Given the description of an element on the screen output the (x, y) to click on. 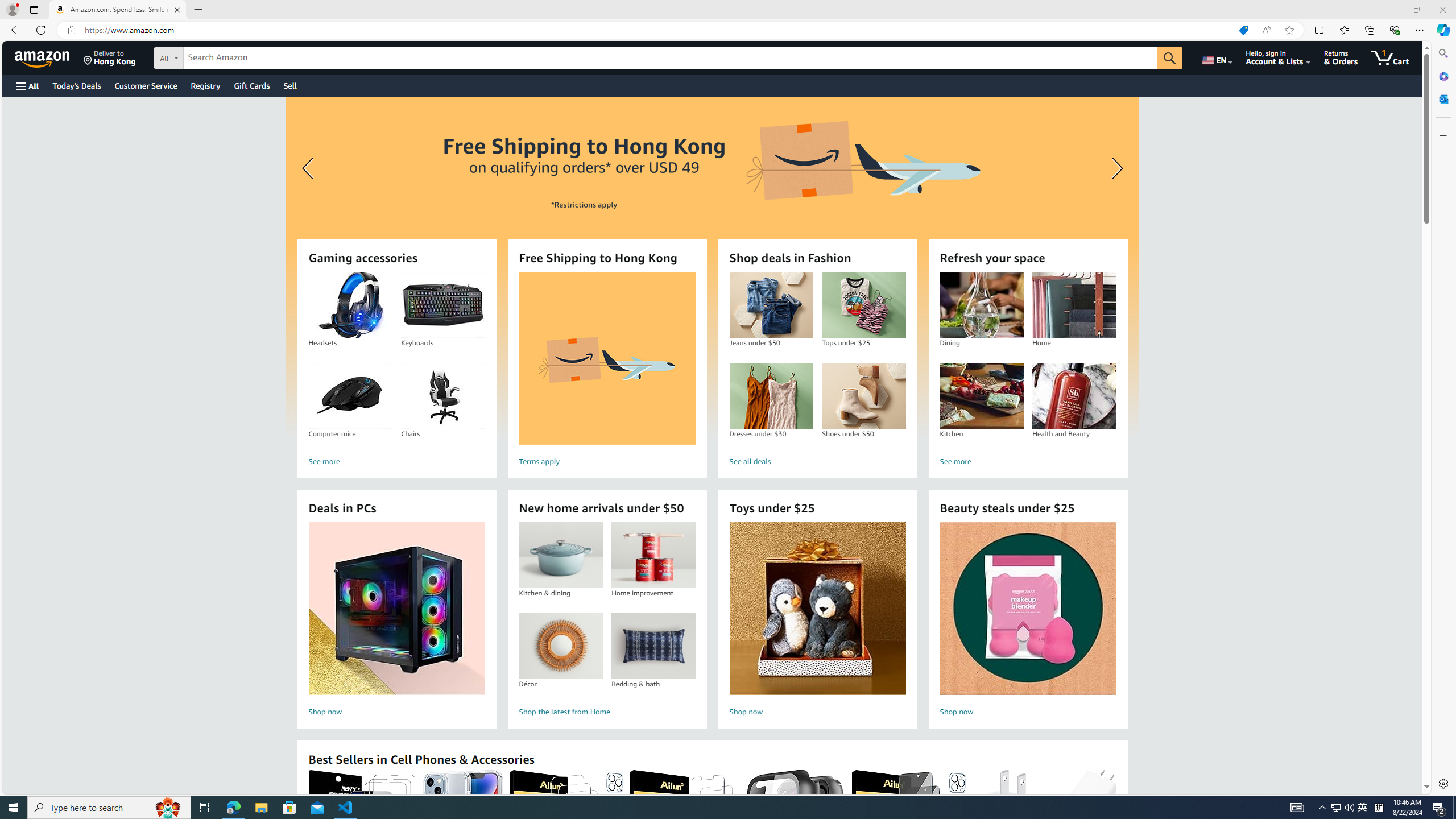
Keyboards (442, 304)
View (112, 9)
Python (1373, 789)
Bedding & bath (652, 645)
Choose a language for shopping. (1216, 57)
Microsoft Edge - 1 running window (233, 807)
Terminal actions (909, 539)
Task View (204, 807)
App bar (728, 29)
File (30, 9)
Headsets (350, 304)
Run Python File (1405, 29)
auto.py (274, 29)
